Given the description of an element on the screen output the (x, y) to click on. 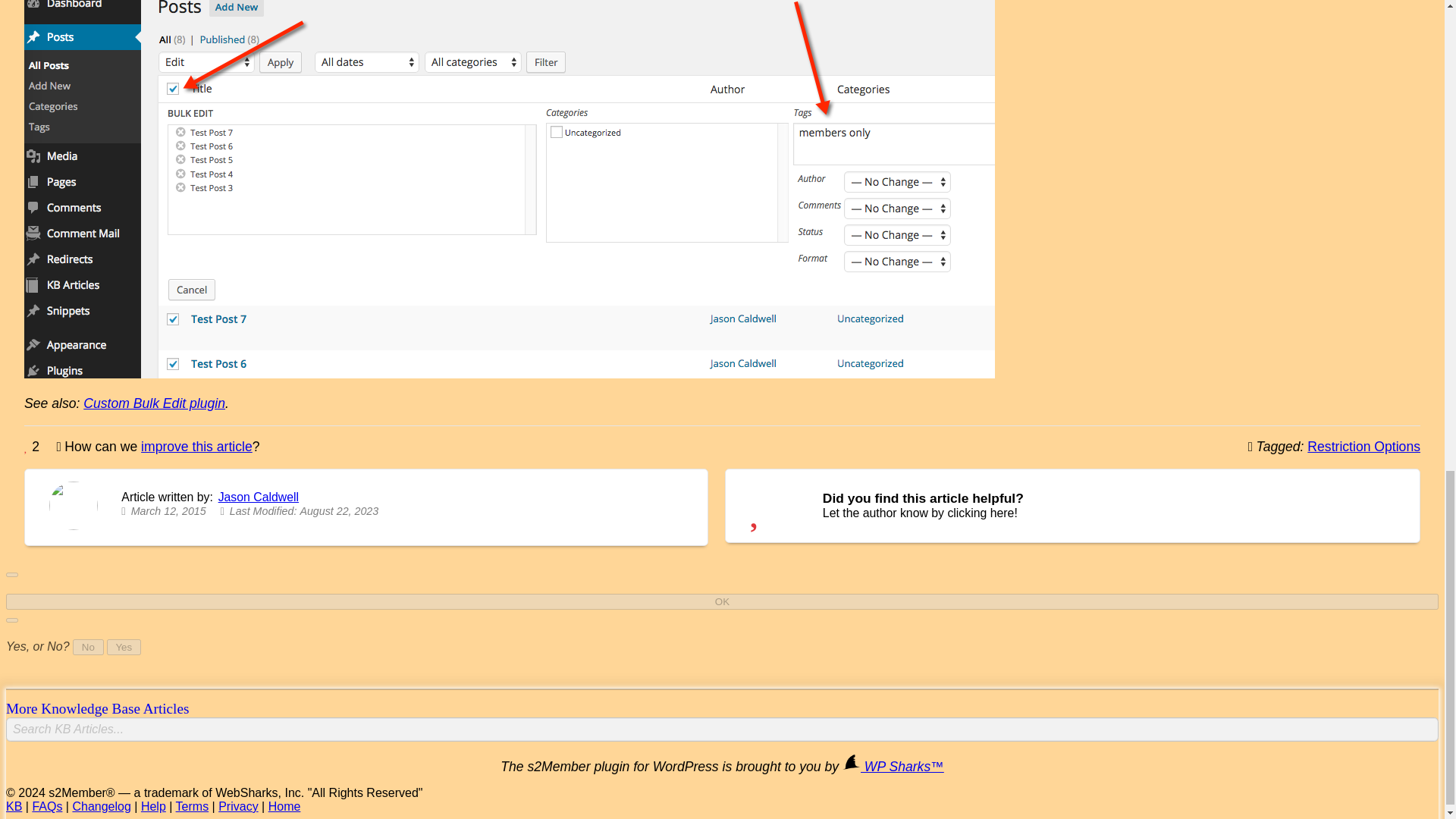
Custom Bulk Edit plugin (153, 403)
Jason Caldwell (258, 497)
Restriction Options (1364, 446)
improve this article (196, 446)
